Given the description of an element on the screen output the (x, y) to click on. 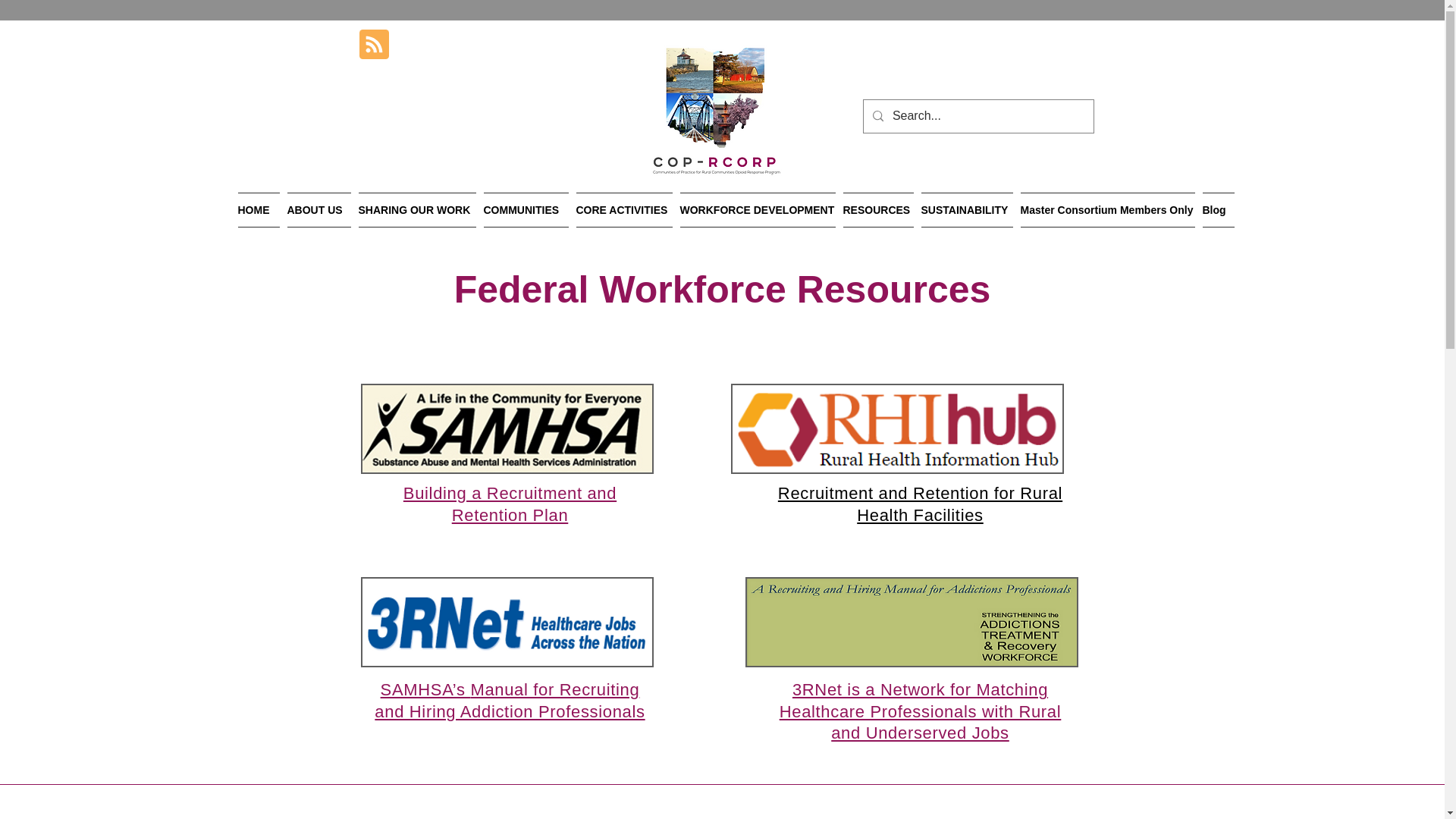
RESOURCES (877, 209)
Master Consortium Members Only (1107, 209)
HOME (260, 209)
COMMUNITIES (525, 209)
Blog (1215, 209)
WORKFORCE DEVELOPMENT (758, 209)
CORE ACTIVITIES (623, 209)
